Given the description of an element on the screen output the (x, y) to click on. 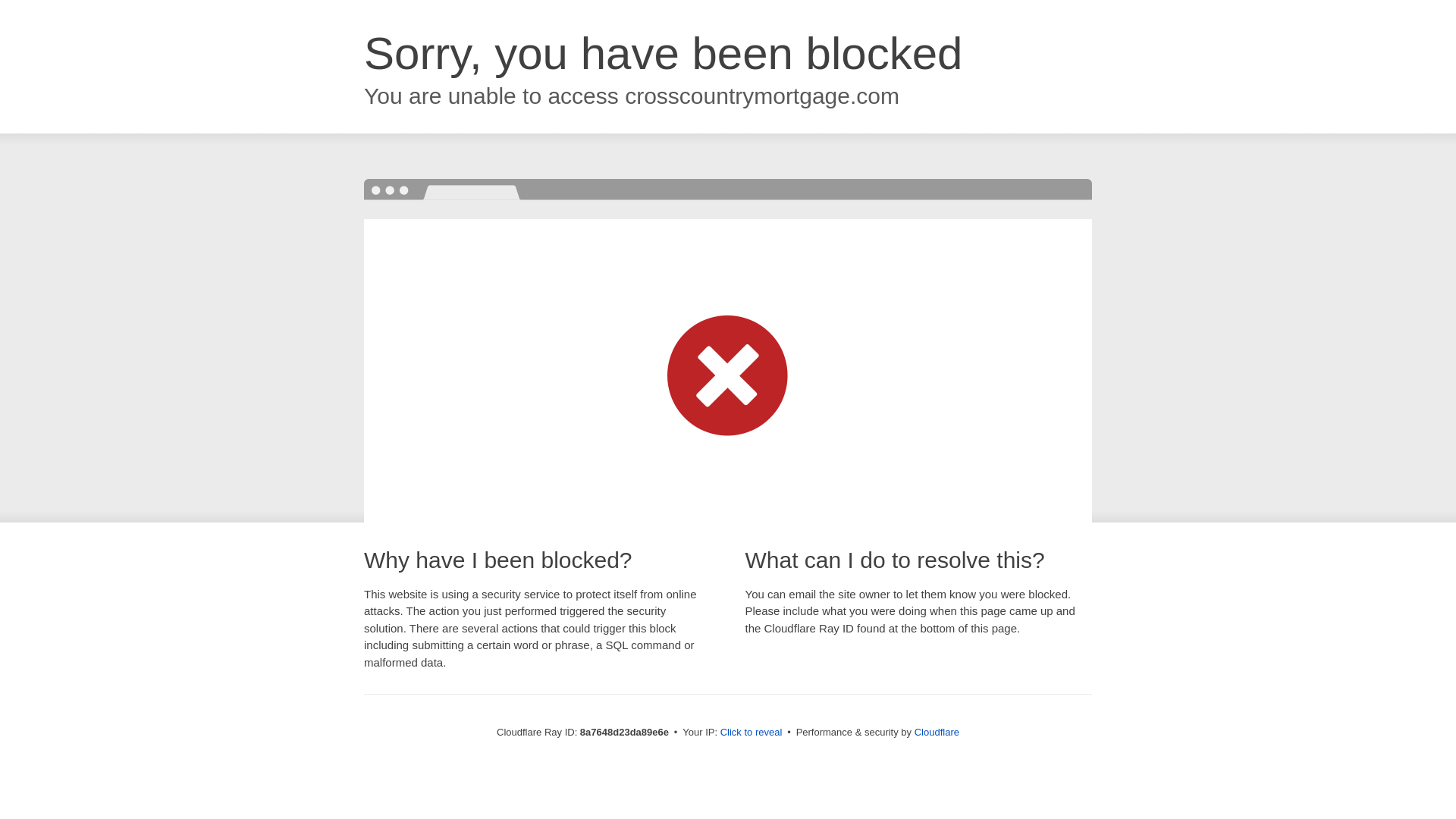
Cloudflare (936, 731)
Click to reveal (751, 732)
